Given the description of an element on the screen output the (x, y) to click on. 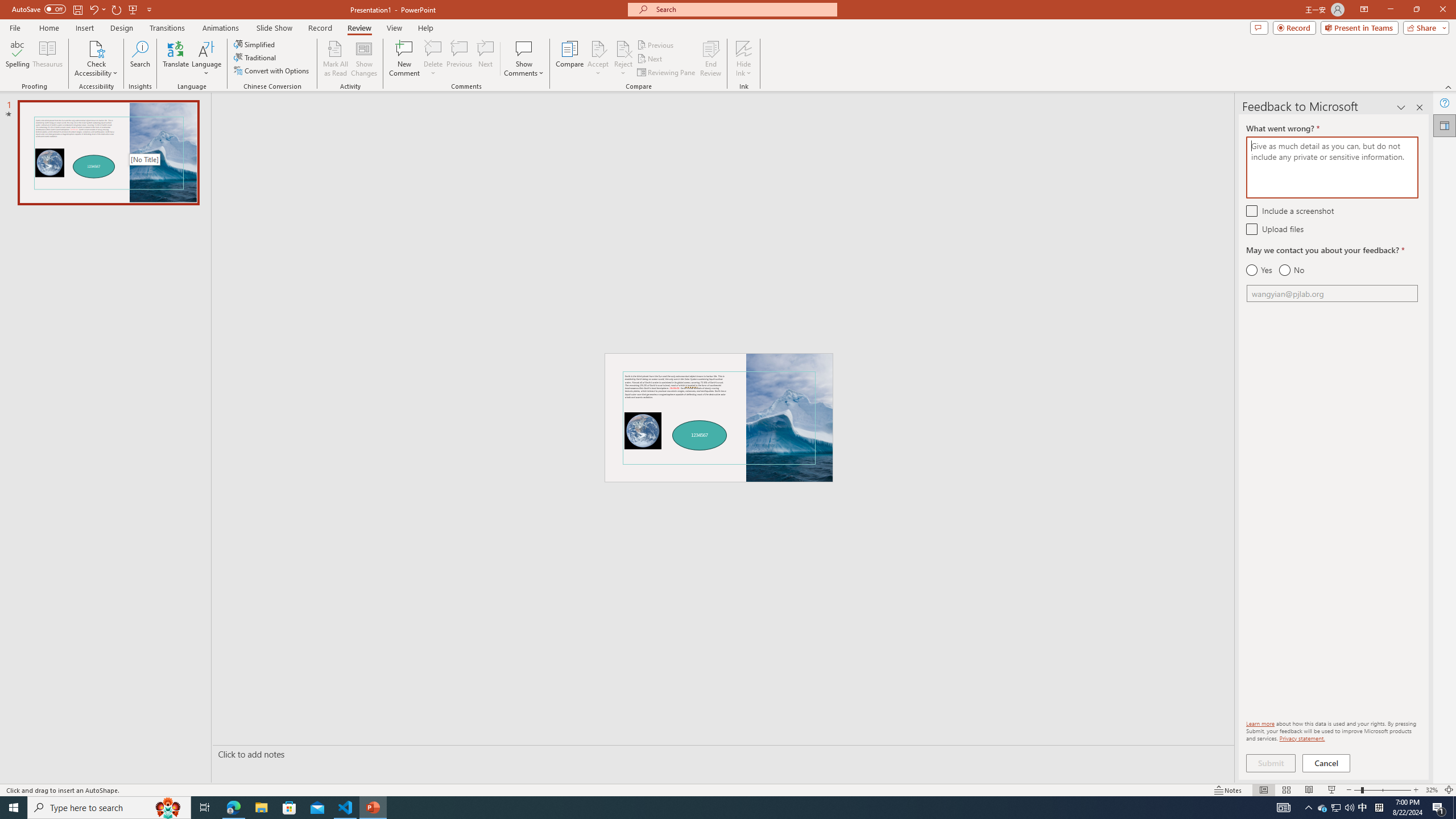
Thesaurus... (47, 58)
Feedback to Microsoft (1444, 125)
Translate (175, 58)
New Comment (403, 58)
